Given the description of an element on the screen output the (x, y) to click on. 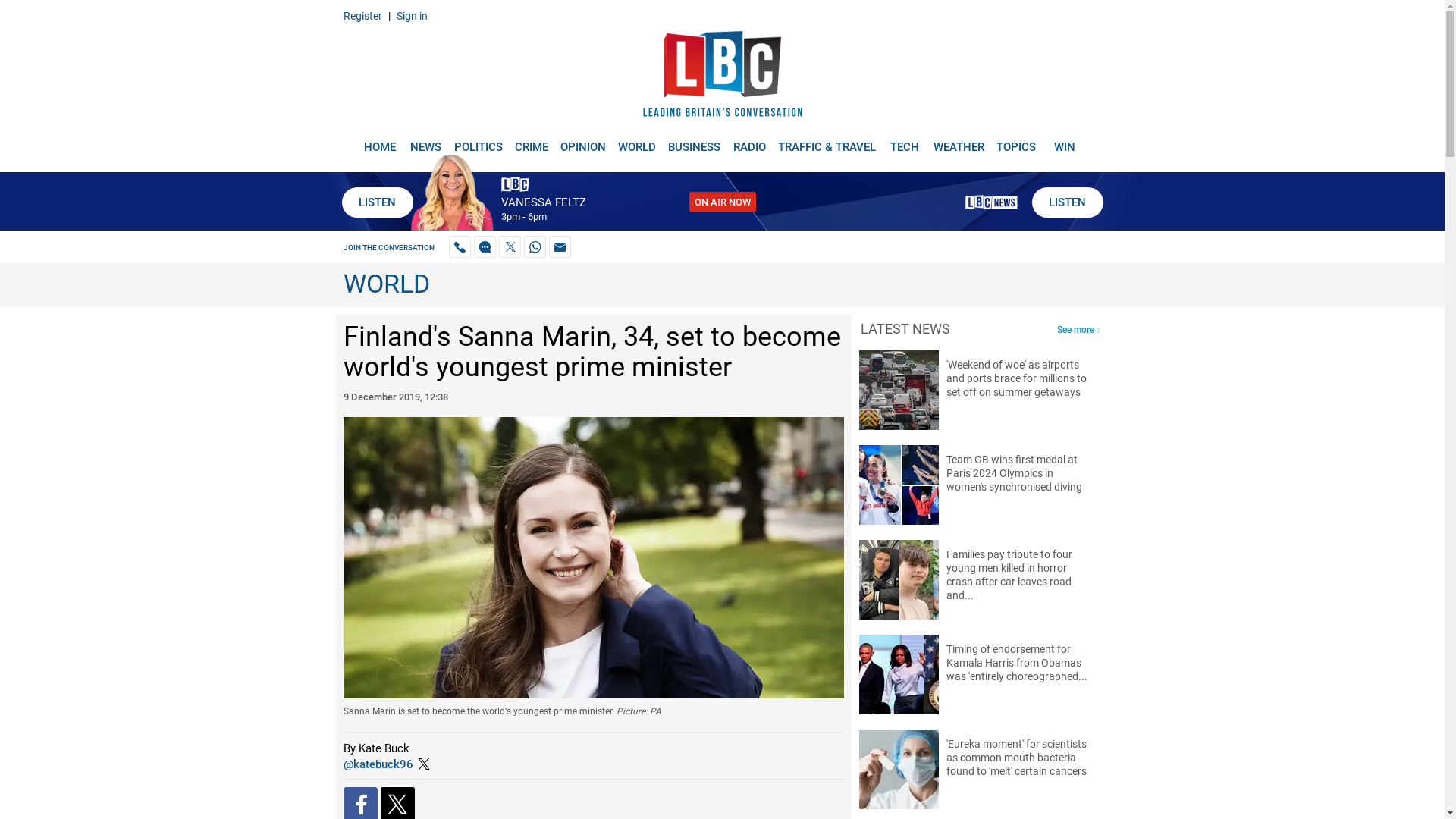
Register (361, 15)
BUSINESS (694, 140)
TOPICS (1016, 140)
RADIO (748, 140)
POLITICS (478, 140)
NEWS (425, 140)
WIN (1064, 140)
Sign in (411, 15)
Follow Kate Buck on X (377, 764)
VANESSA FELTZ (542, 202)
WORLD (636, 140)
LBC (722, 77)
WEATHER (958, 140)
CRIME (531, 140)
TECH (904, 140)
